Given the description of an element on the screen output the (x, y) to click on. 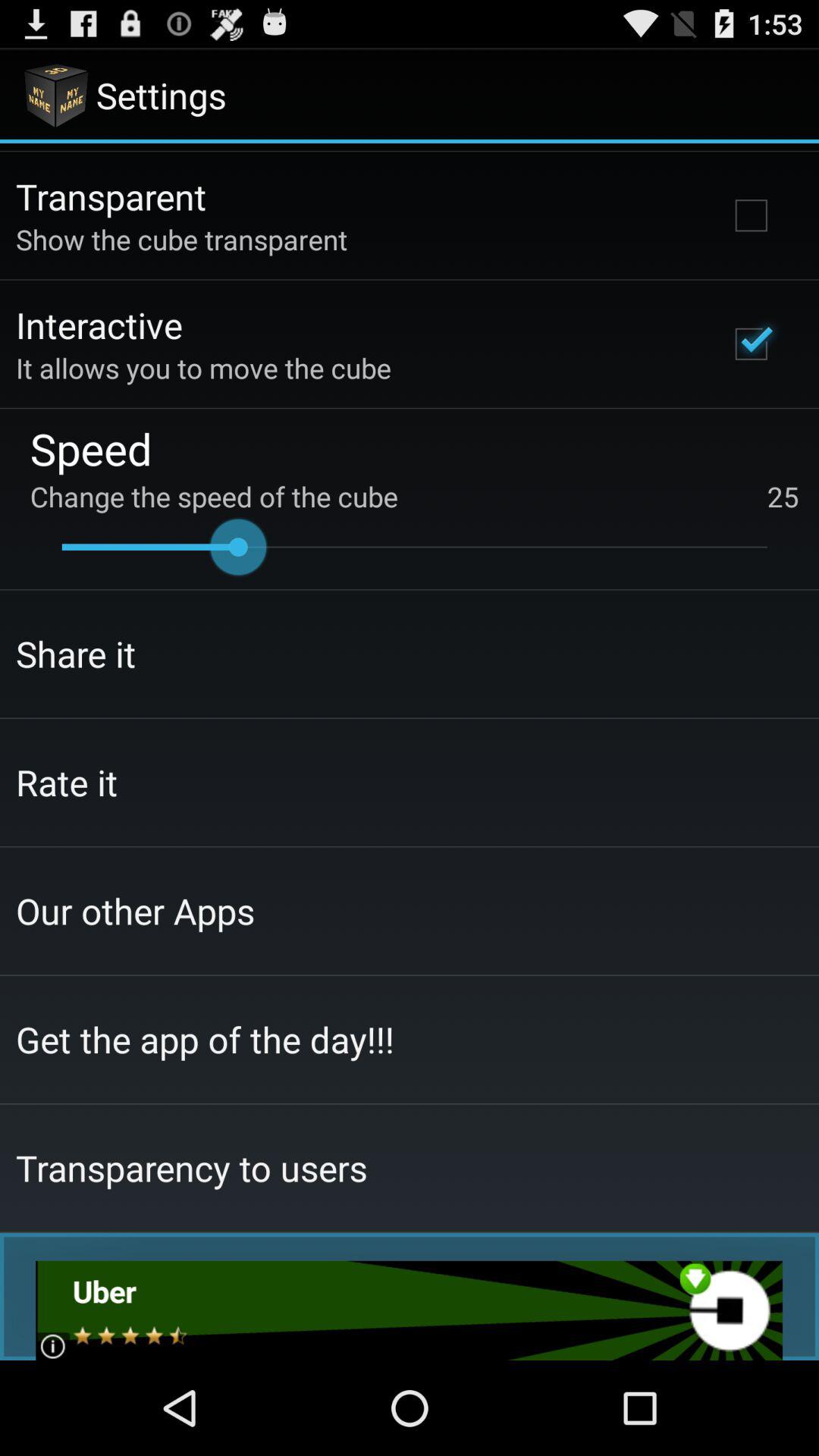
jump to the share it item (75, 653)
